Given the description of an element on the screen output the (x, y) to click on. 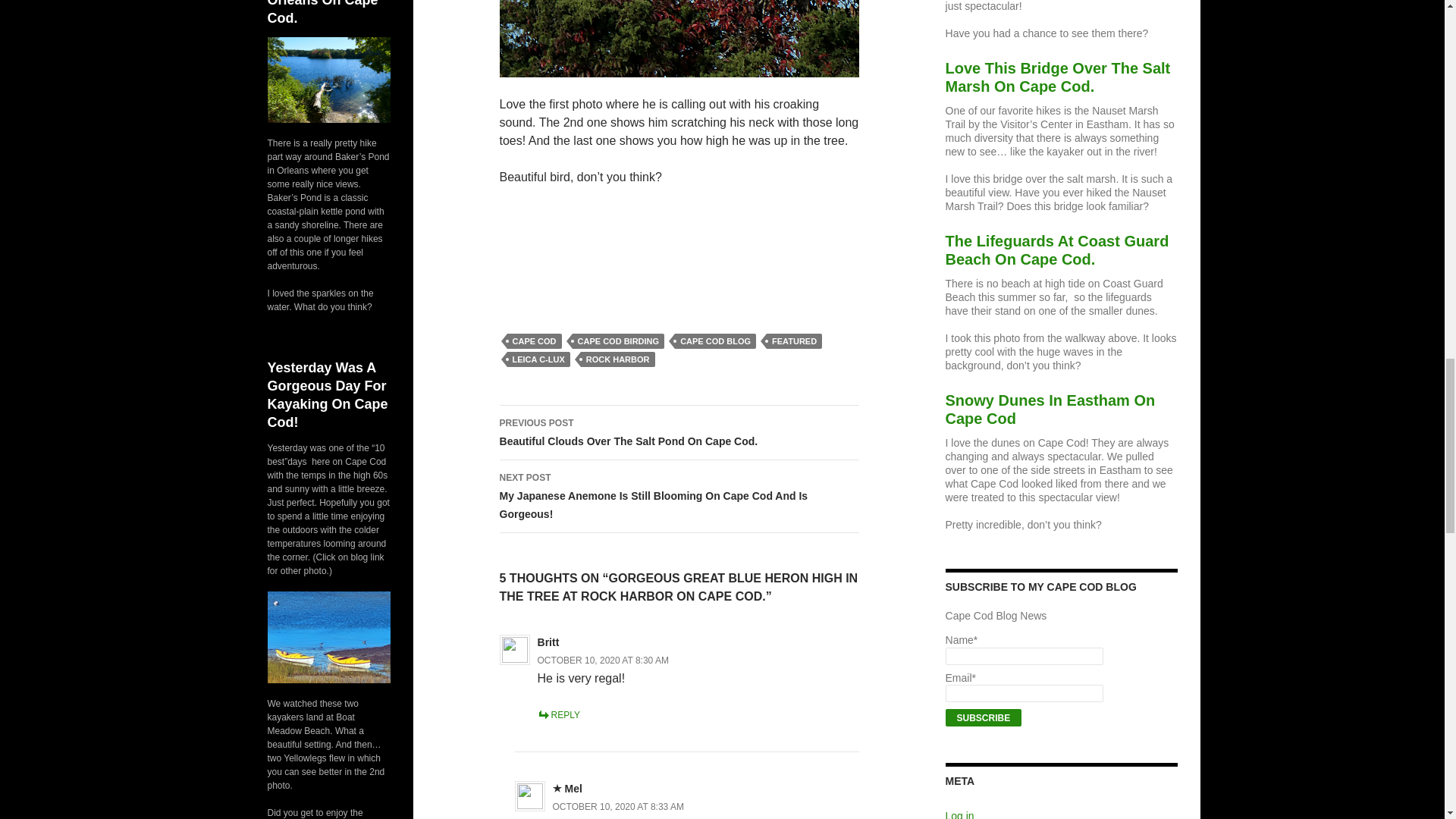
ROCK HARBOR (617, 359)
Subscribe (983, 717)
CAPE COD BLOG (715, 340)
OCTOBER 10, 2020 AT 8:33 AM (618, 806)
REPLY (558, 715)
LEICA C-LUX (537, 359)
FEATURED (794, 340)
OCTOBER 10, 2020 AT 8:30 AM (602, 660)
CAPE COD (533, 340)
CAPE COD BIRDING (618, 340)
